Given the description of an element on the screen output the (x, y) to click on. 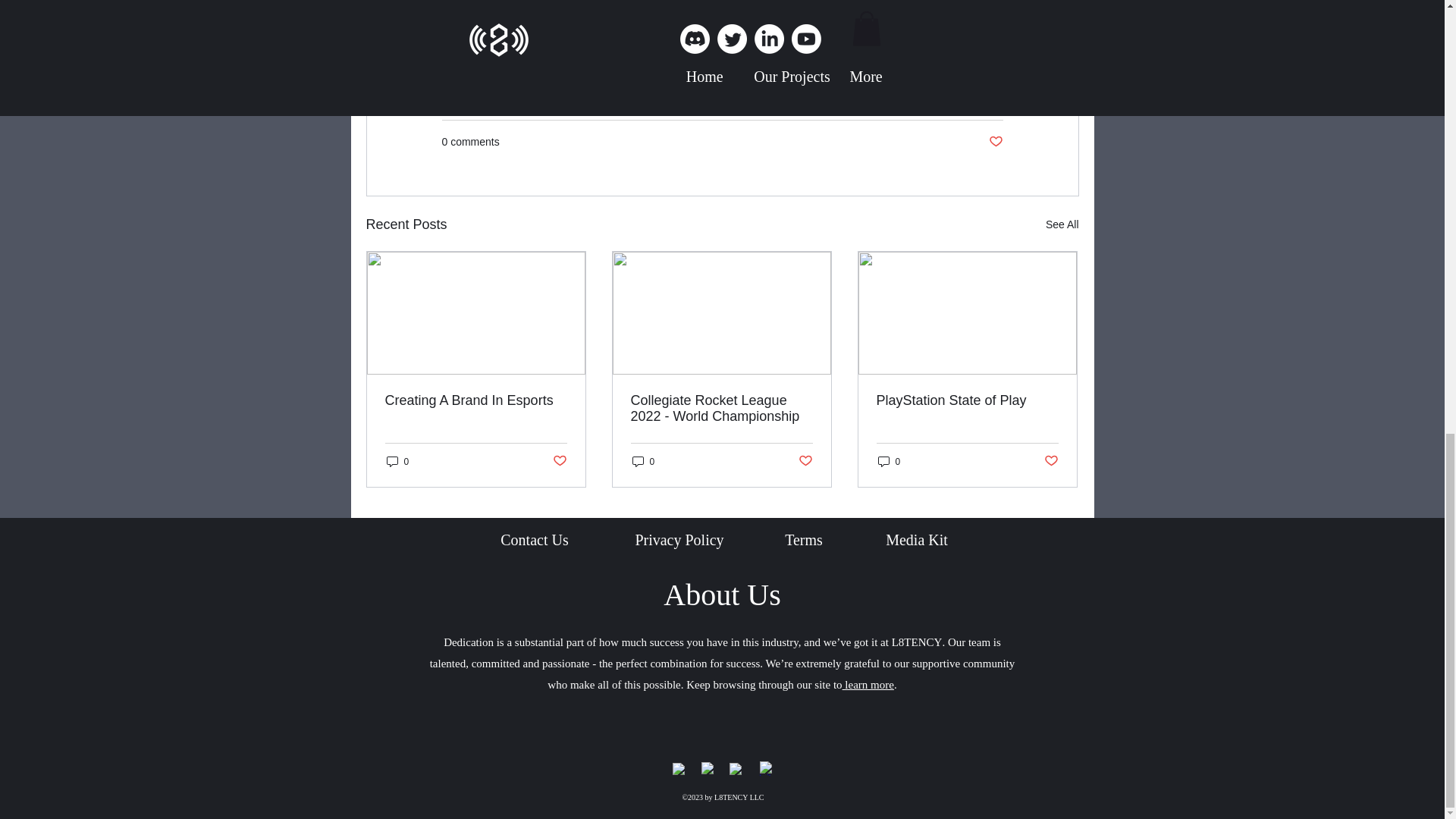
Post not marked as liked (558, 461)
Creating A Brand In Esports (476, 400)
Post not marked as liked (995, 141)
0 (889, 461)
0 (397, 461)
Collegiate Rocket League 2022 - World Championship (721, 409)
0 (643, 461)
Privacy Policy (678, 539)
Post Archive (973, 96)
PlayStation State of Play (967, 400)
